Given the description of an element on the screen output the (x, y) to click on. 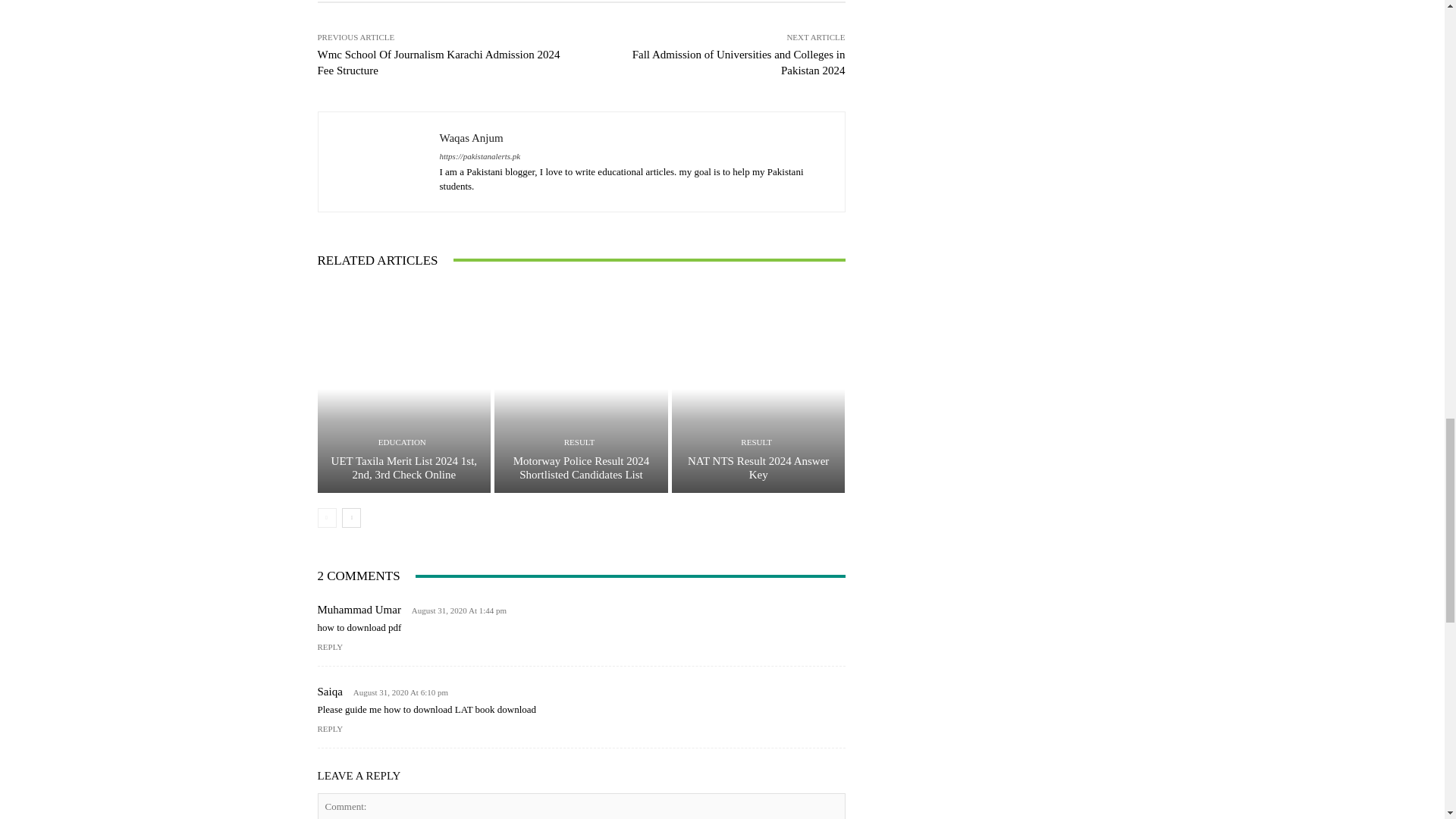
EDUCATION (402, 442)
Fall Admission of Universities and Colleges in Pakistan 2024 (738, 62)
Waqas Anjum (634, 137)
UET Taxila Merit List 2024 1st, 2nd, 3rd Check Online (404, 467)
